Given the description of an element on the screen output the (x, y) to click on. 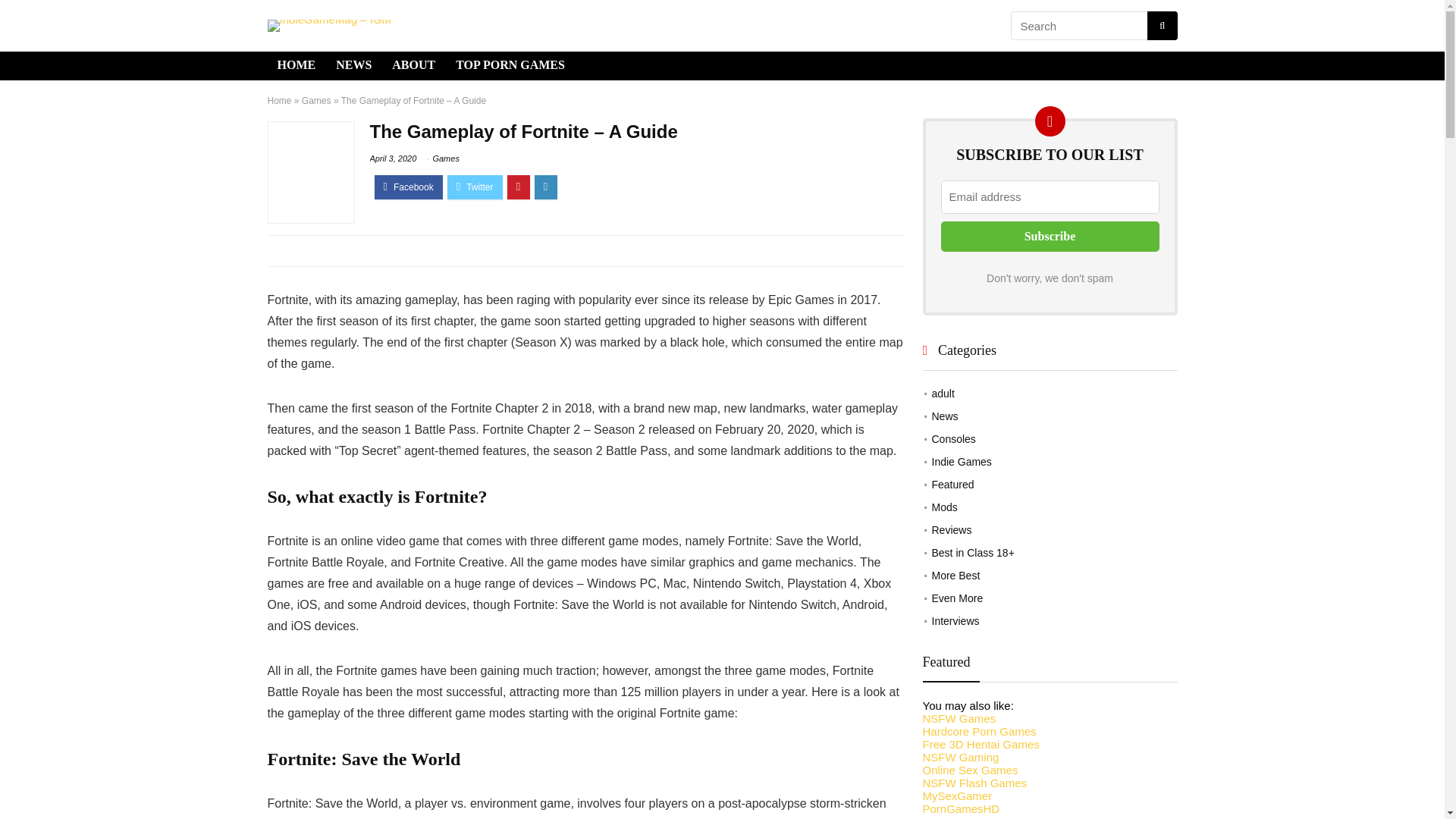
adult (942, 393)
Consoles (953, 439)
Subscribe (1049, 236)
Home (278, 100)
NEWS (353, 65)
TOP PORN GAMES (510, 65)
Games (445, 157)
ABOUT (413, 65)
HOME (295, 65)
Subscribe (1049, 236)
News (944, 416)
View all posts in Games (445, 157)
Indie Games (961, 461)
Games (316, 100)
